Given the description of an element on the screen output the (x, y) to click on. 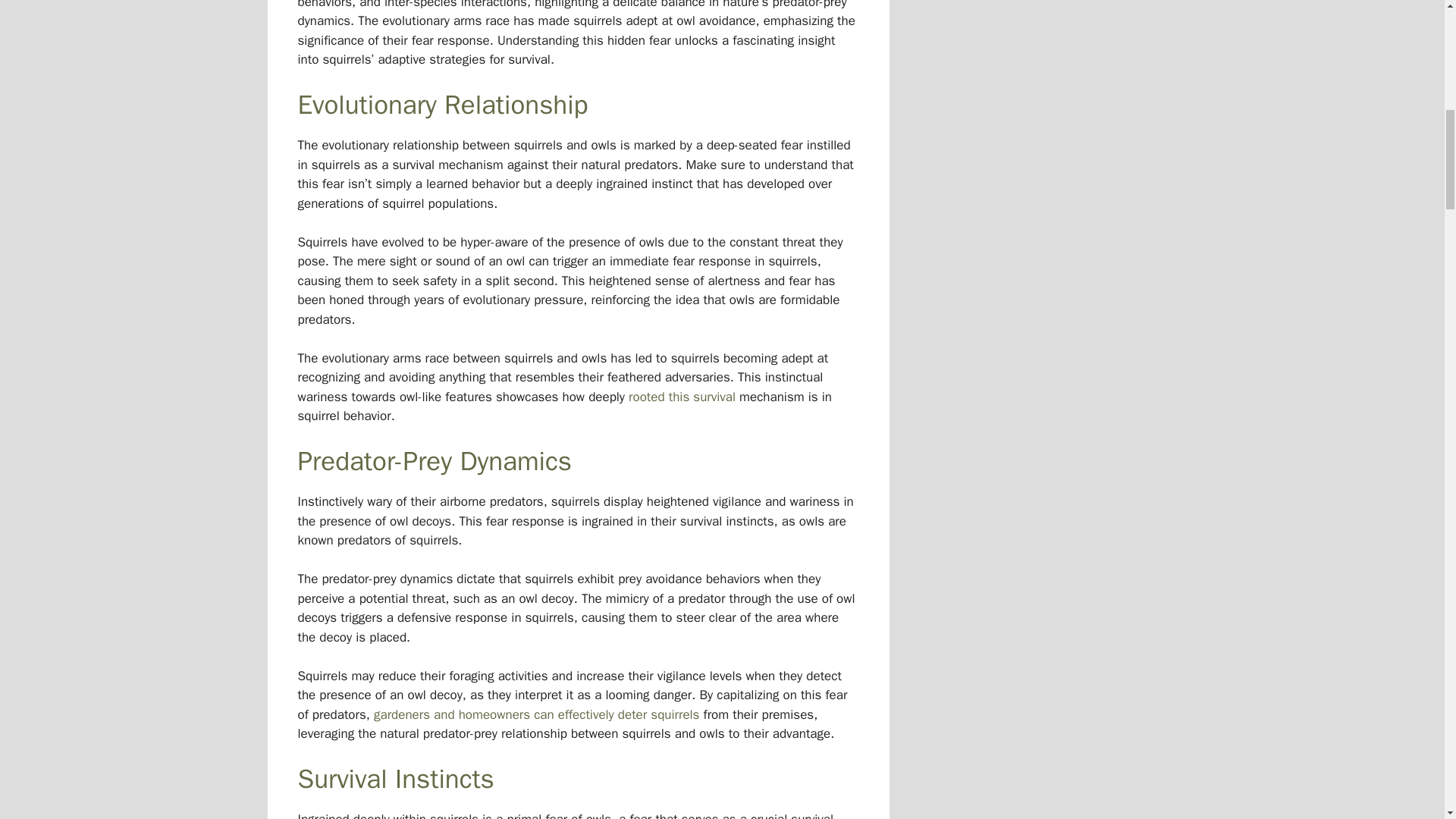
rooted this survival (681, 396)
gardeners and homeowners can effectively deter squirrels (536, 714)
